Given the description of an element on the screen output the (x, y) to click on. 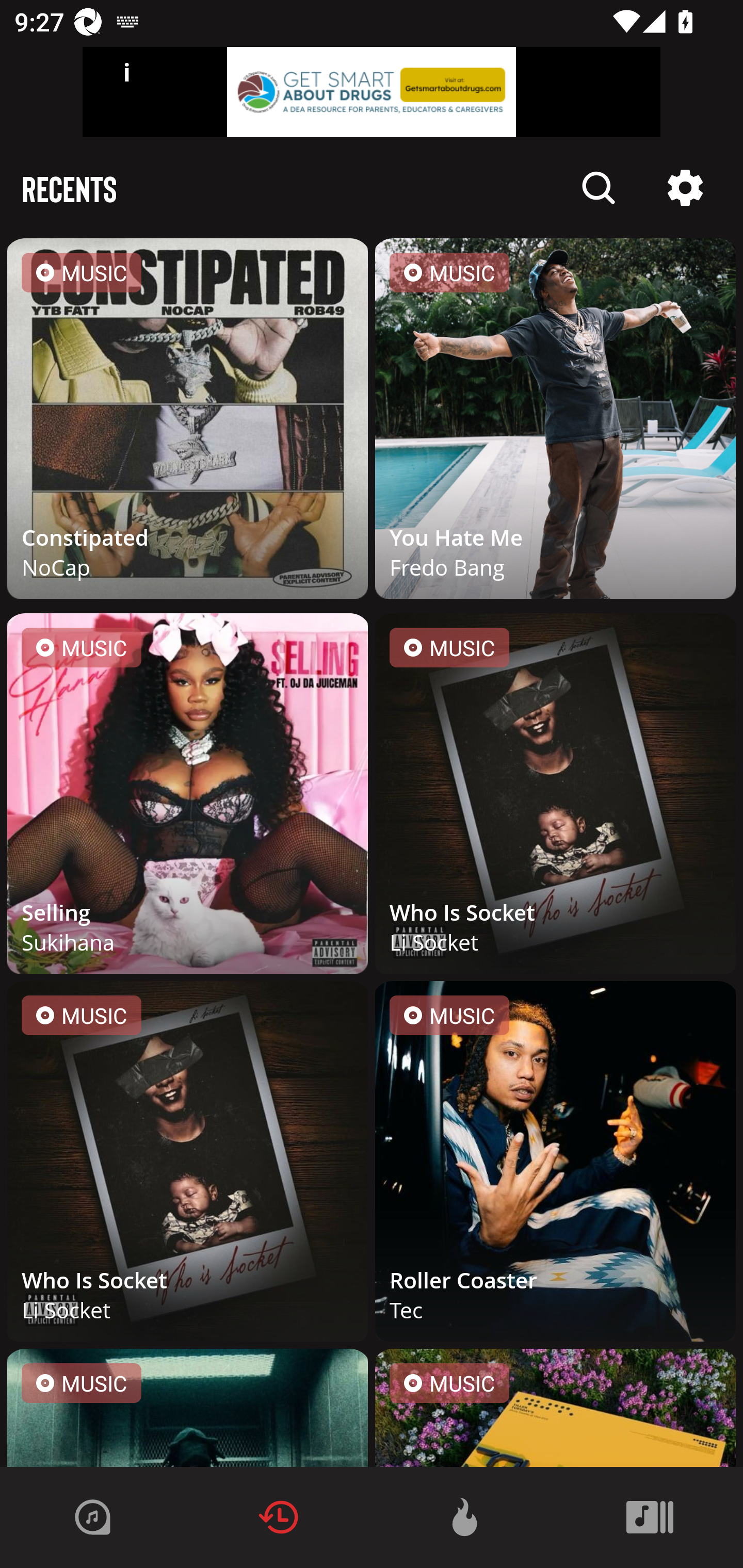
Description (598, 188)
Description (684, 188)
MUSIC Constipated NoCap (187, 422)
MUSIC You Hate Me Fredo Bang (555, 422)
MUSIC Selling Sukihana (187, 797)
MUSIC Who Is Socket Li Socket (555, 797)
MUSIC Who Is Socket Li Socket (187, 1164)
MUSIC Roller Coaster Tec (555, 1164)
